Given the description of an element on the screen output the (x, y) to click on. 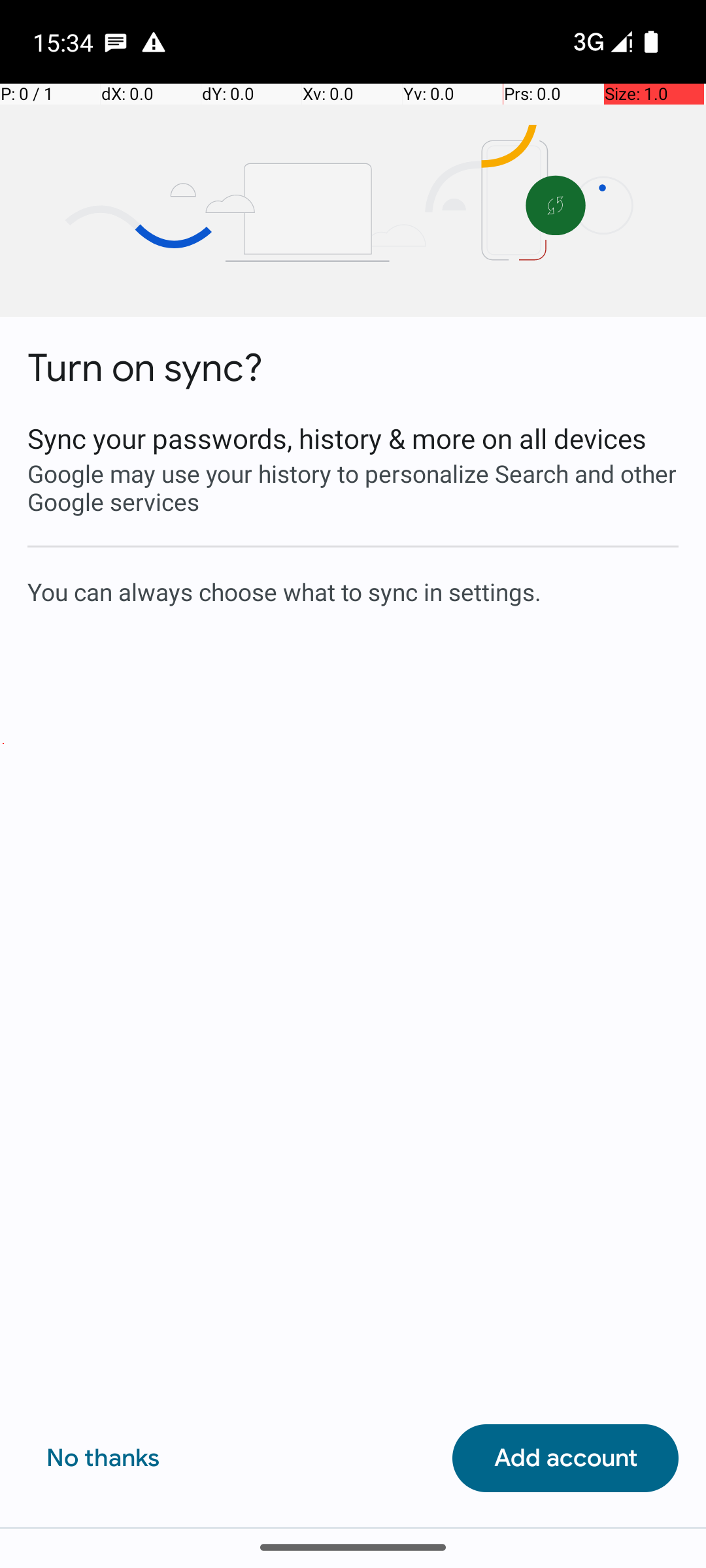
No thanks Element type: android.widget.Button (102, 1458)
Add account Element type: android.widget.Button (565, 1458)
Turn on sync? Element type: android.widget.TextView (144, 368)
Sync your passwords, history & more on all devices Element type: android.widget.TextView (352, 437)
Google may use your history to personalize Search and other Google services Element type: android.widget.TextView (352, 487)
You can always choose what to sync in settings. Element type: android.widget.TextView (352, 591)
